Given the description of an element on the screen output the (x, y) to click on. 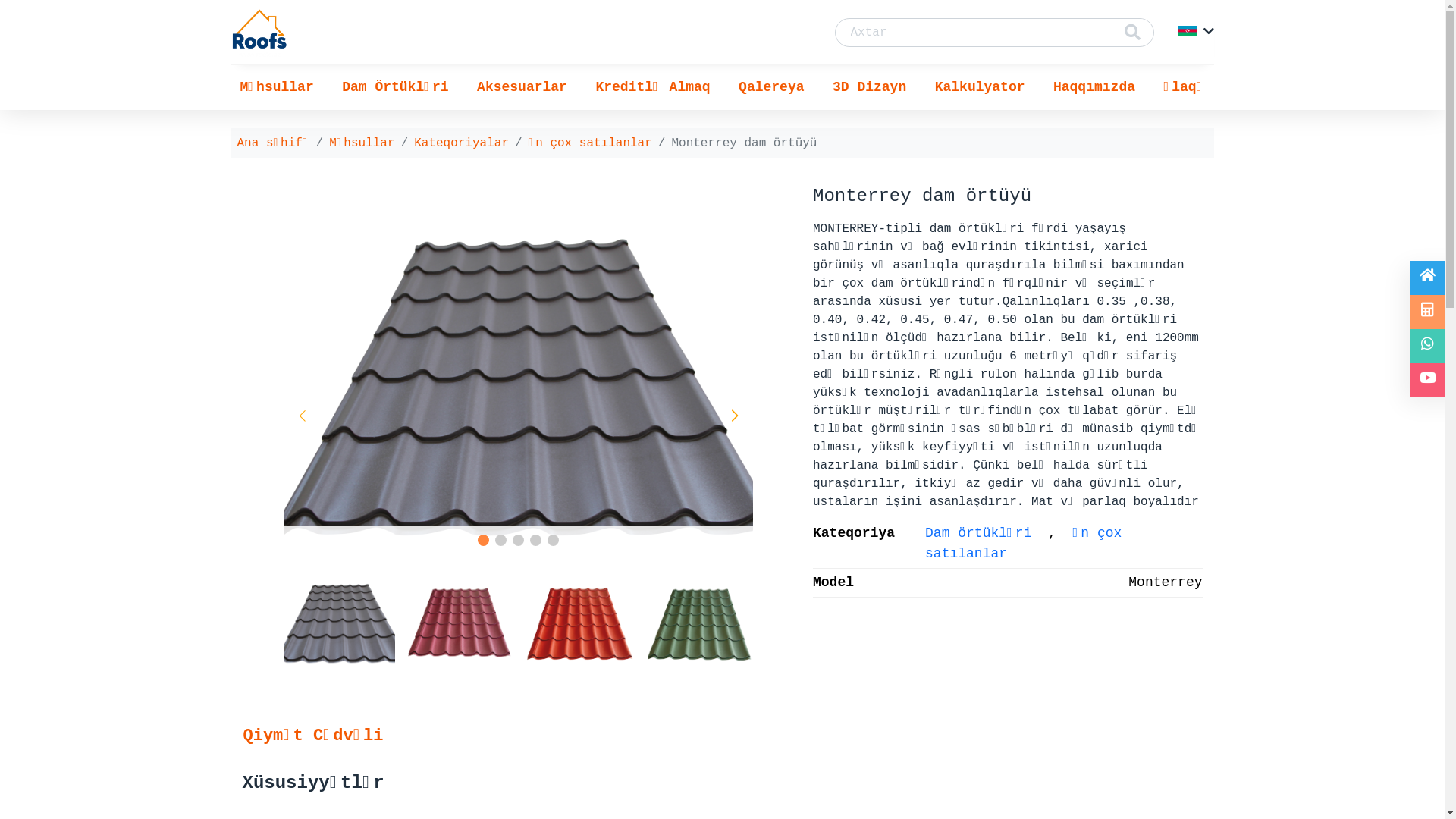
Kateqoriyalar Element type: text (461, 143)
Qalereya Element type: text (770, 87)
3D Dizayn Element type: text (869, 87)
Kalkulyator Element type: text (979, 87)
Aksesuarlar Element type: text (521, 87)
